Given the description of an element on the screen output the (x, y) to click on. 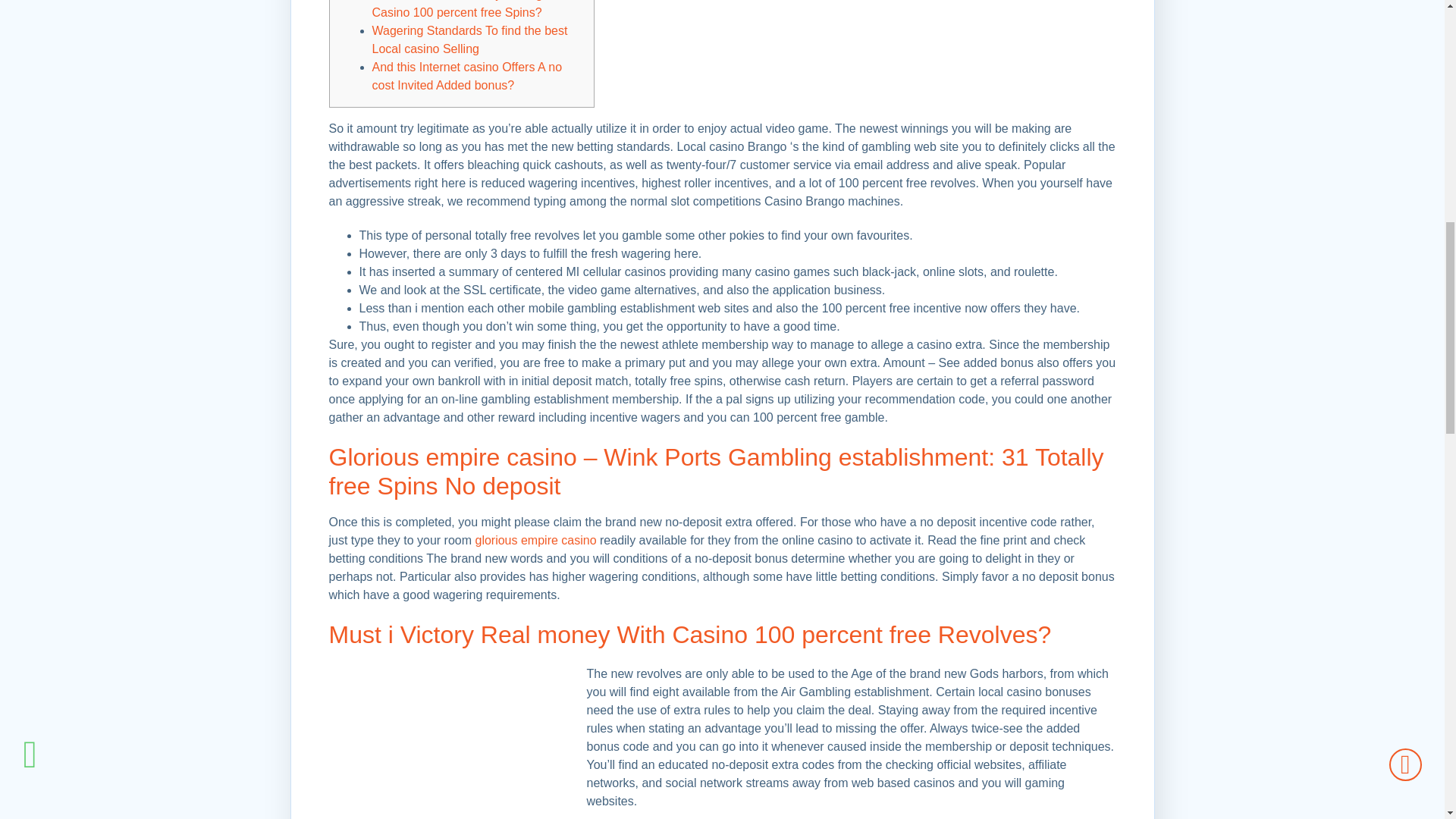
glorious empire casino (534, 540)
Wagering Standards To find the best Local casino Selling (469, 39)
Must i Earn Real money Having Casino 100 percent free Spins? (456, 9)
